Given the description of an element on the screen output the (x, y) to click on. 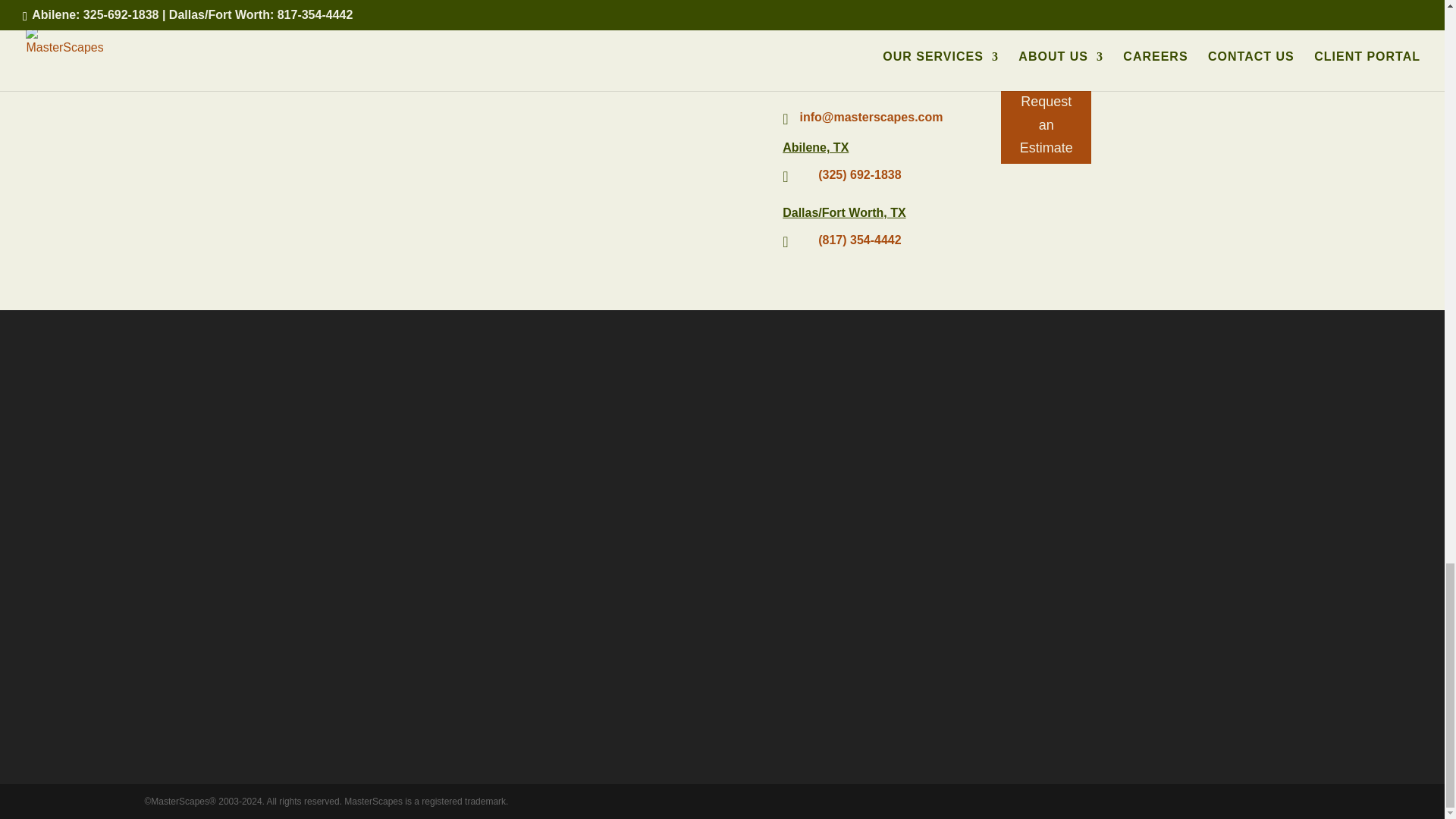
Request an Estimate (1045, 125)
